Given the description of an element on the screen output the (x, y) to click on. 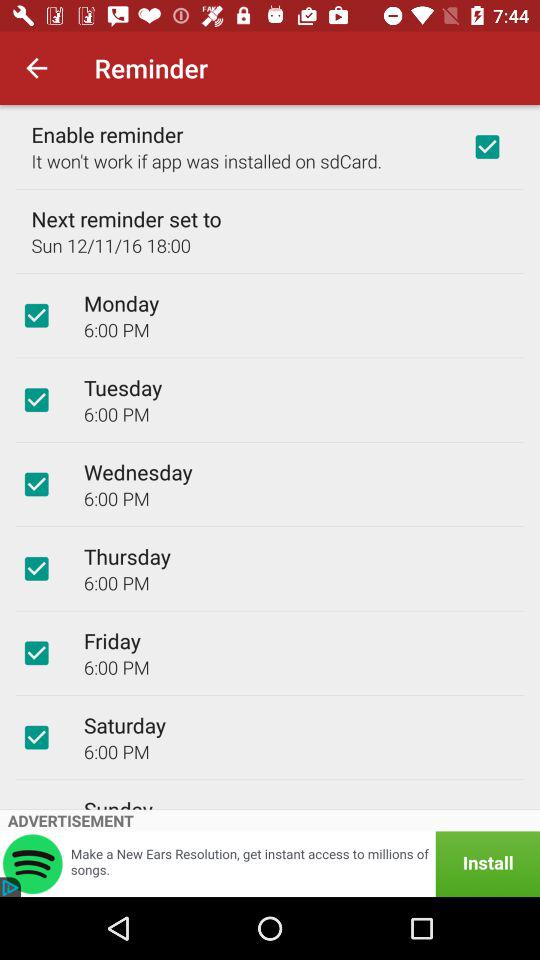
shows option button (36, 400)
